Given the description of an element on the screen output the (x, y) to click on. 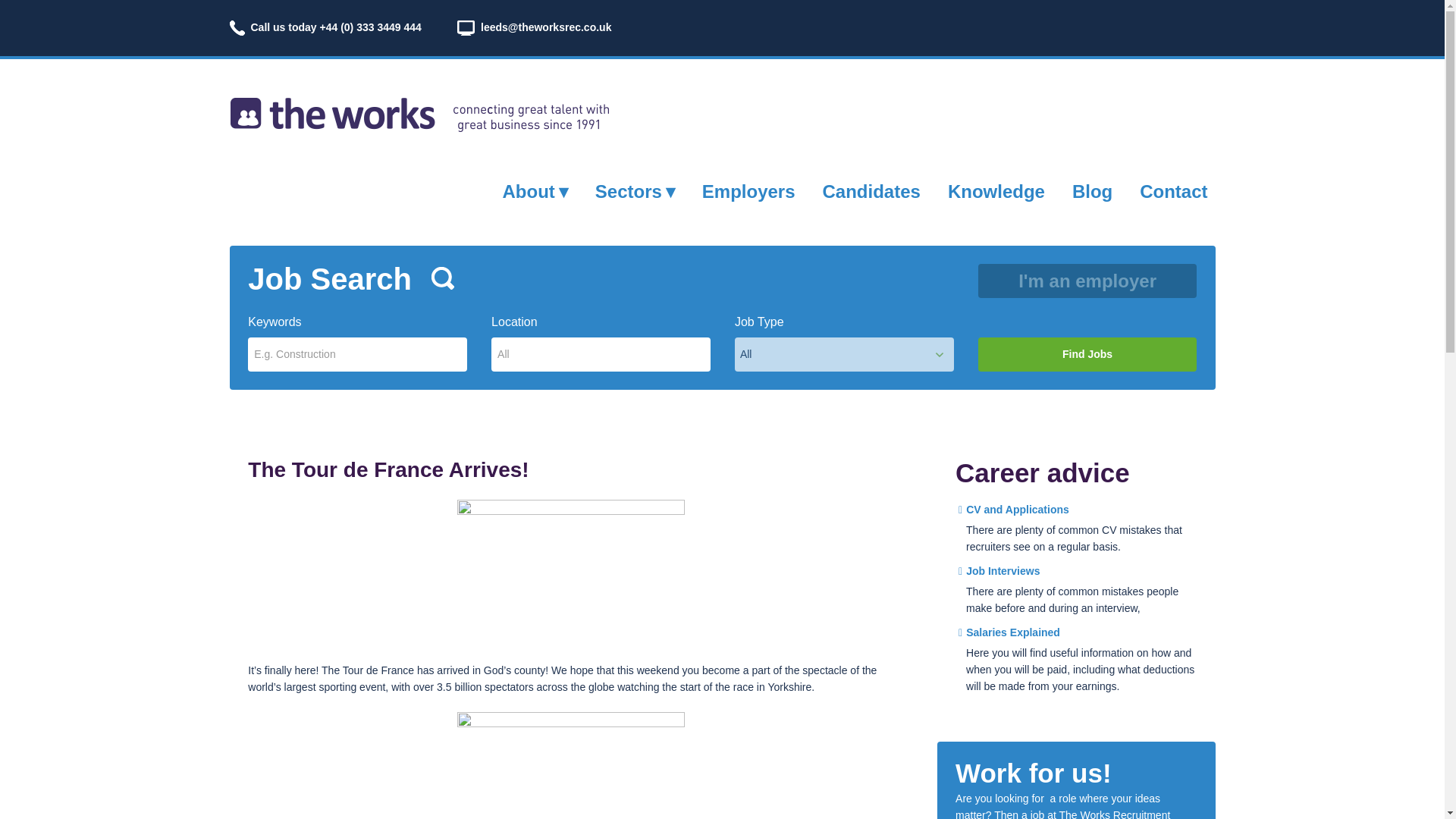
Sectors (635, 190)
Salaries Explained (1008, 632)
Employers (747, 190)
Knowledge (996, 190)
Find Jobs (1087, 354)
Candidates (871, 190)
About (534, 190)
CV and Applications (1013, 509)
Job Interviews (998, 571)
Contact (1173, 190)
Blog (1091, 190)
